Given the description of an element on the screen output the (x, y) to click on. 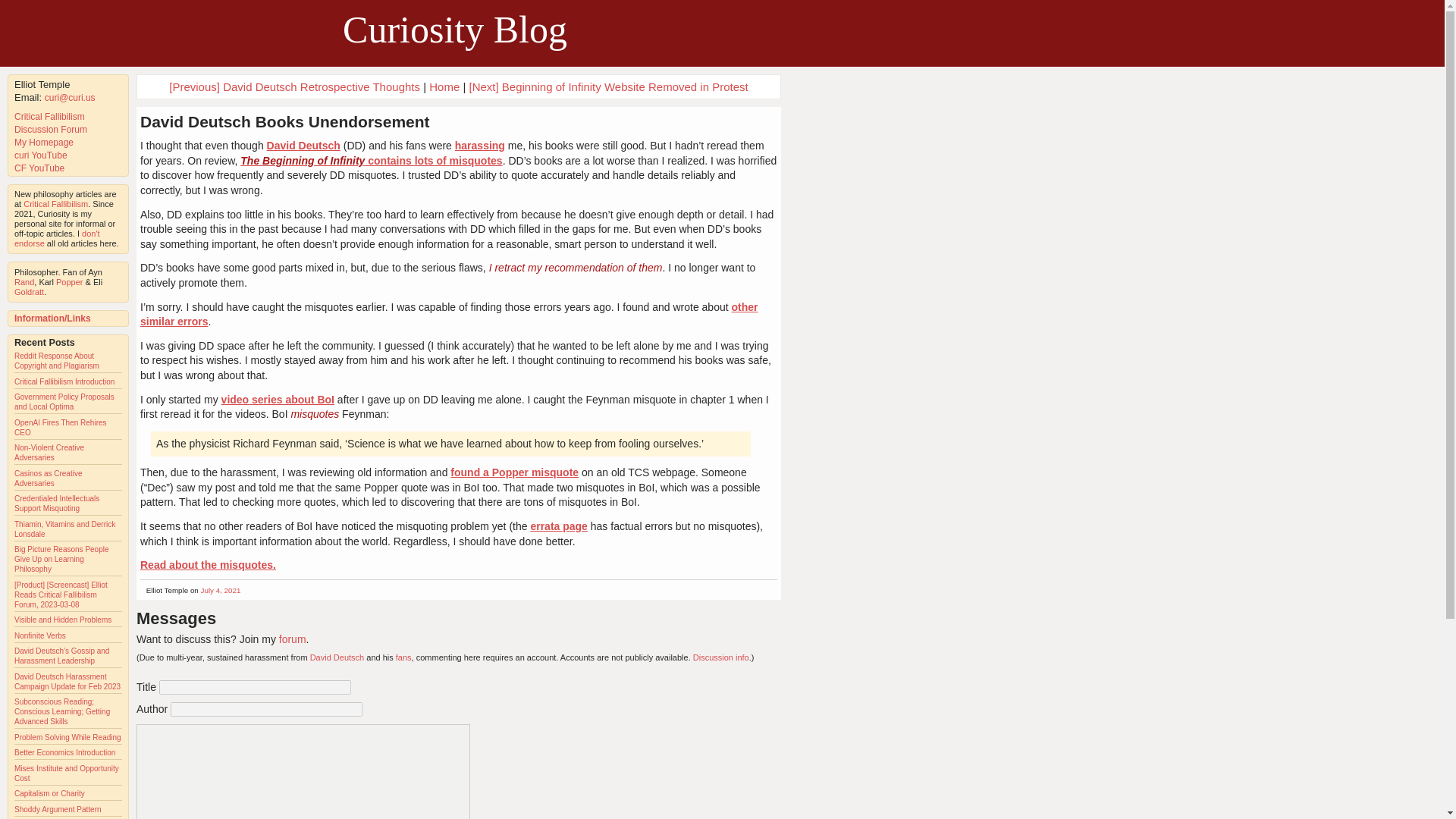
curi YouTube (40, 154)
Rand (23, 281)
Casinos as Creative Adversaries (47, 478)
Visible and Hidden Problems (63, 619)
Better Economics Introduction (64, 752)
Nonfinite Verbs (39, 635)
don't endorse (57, 238)
David Deutsch Harassment Campaign Update for Feb 2023 (67, 681)
Non-Violent Creative Adversaries (49, 452)
Problem Solving While Reading (67, 737)
